Given the description of an element on the screen output the (x, y) to click on. 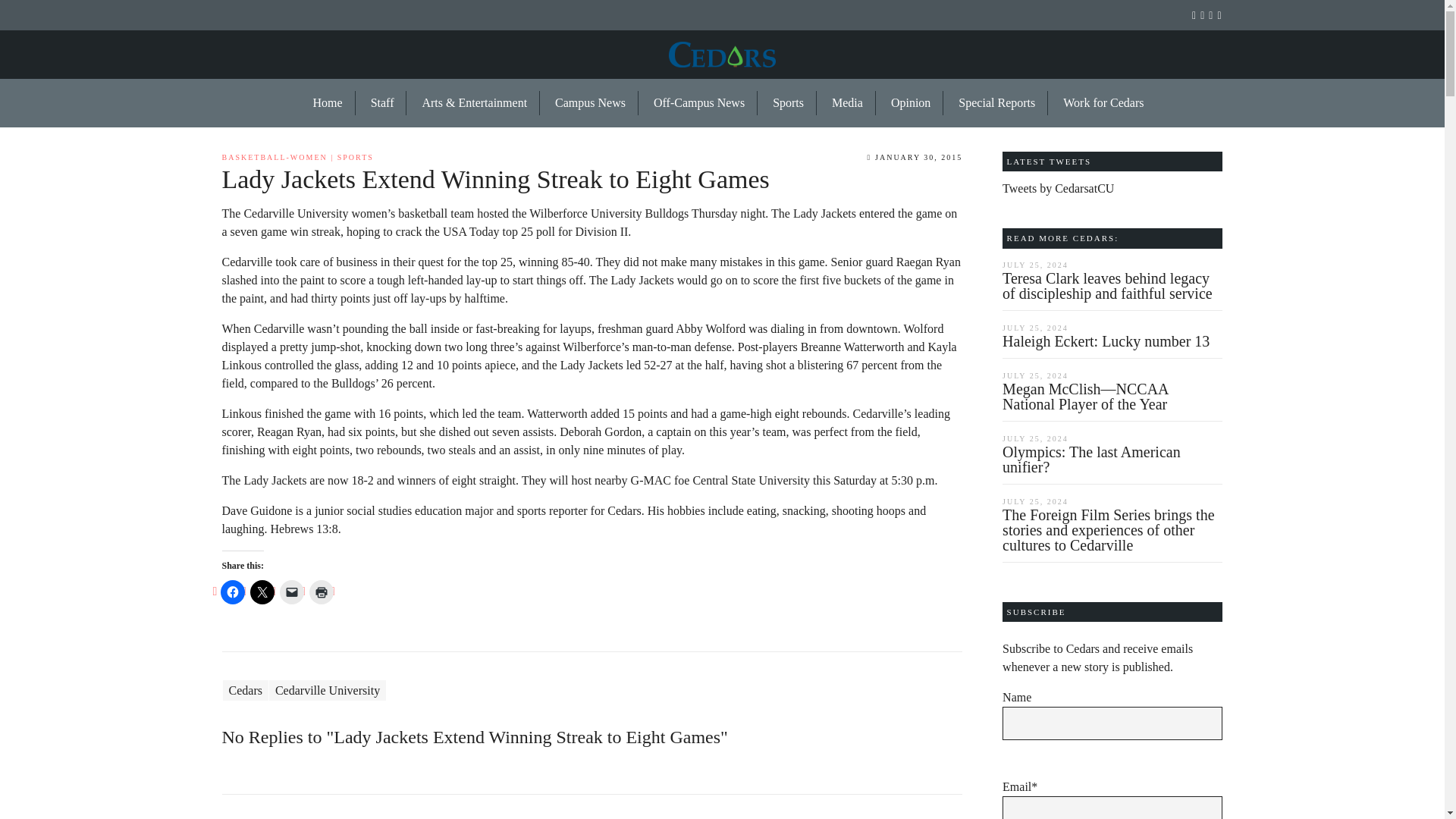
JANUARY 30, 2015 (914, 157)
Sports (788, 102)
Click to share on X (262, 591)
Click to print (320, 591)
Click to share on Facebook (232, 591)
Media (847, 102)
Work for Cedars (1096, 102)
Campus News (591, 102)
Off-Campus News (699, 102)
Home (328, 102)
